Given the description of an element on the screen output the (x, y) to click on. 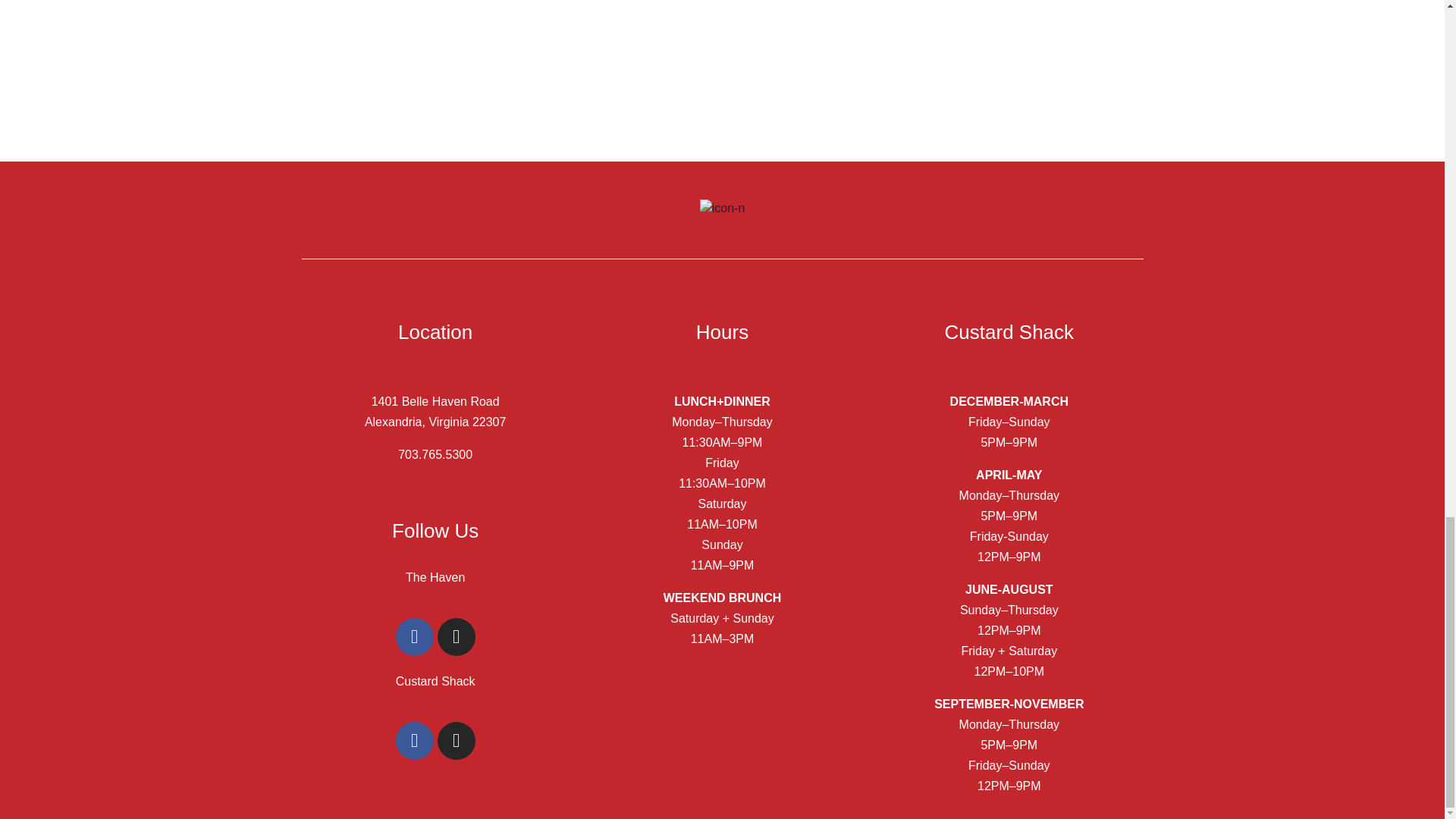
icon-n (722, 208)
